Given the description of an element on the screen output the (x, y) to click on. 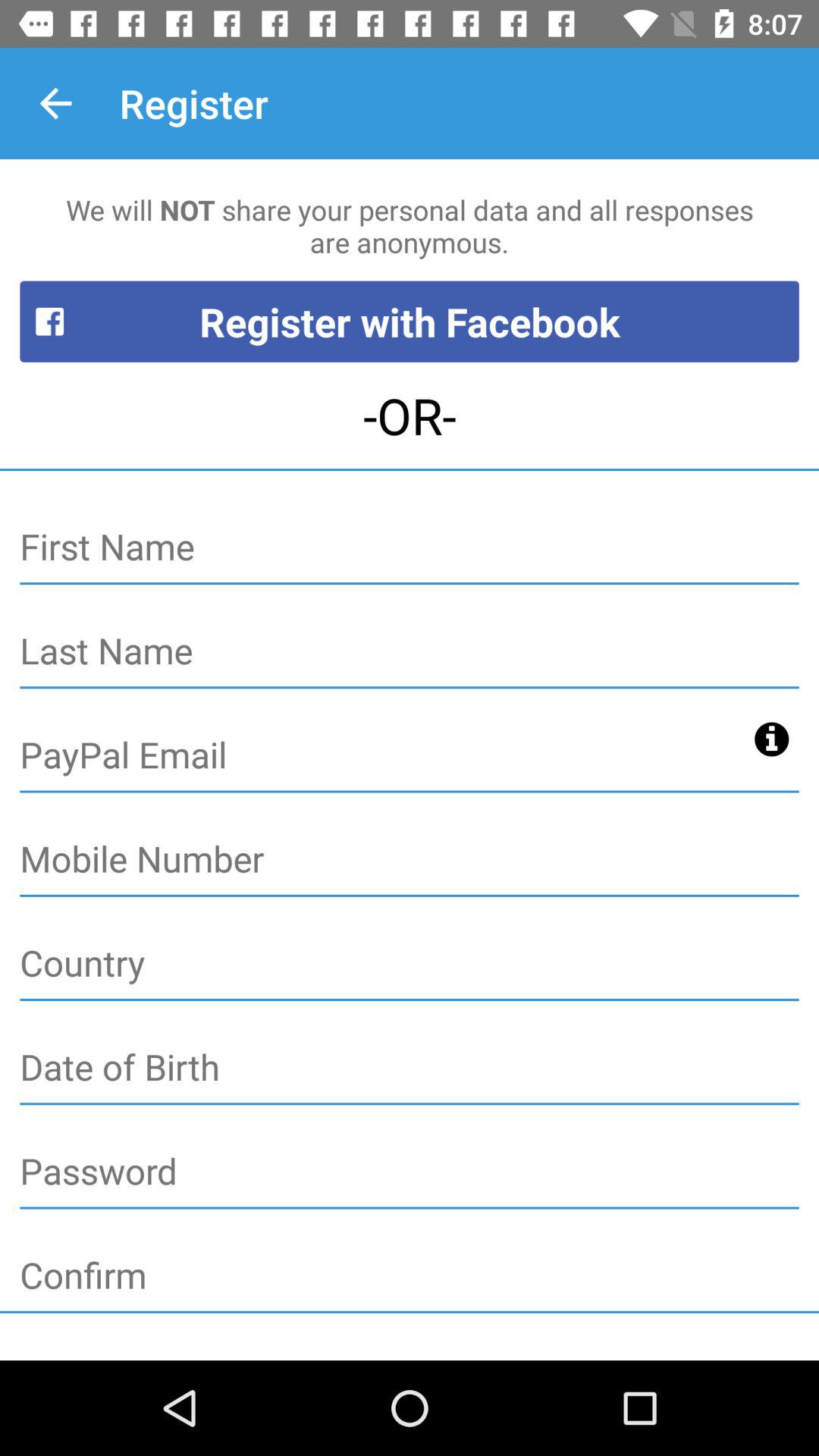
confirm (409, 1276)
